Given the description of an element on the screen output the (x, y) to click on. 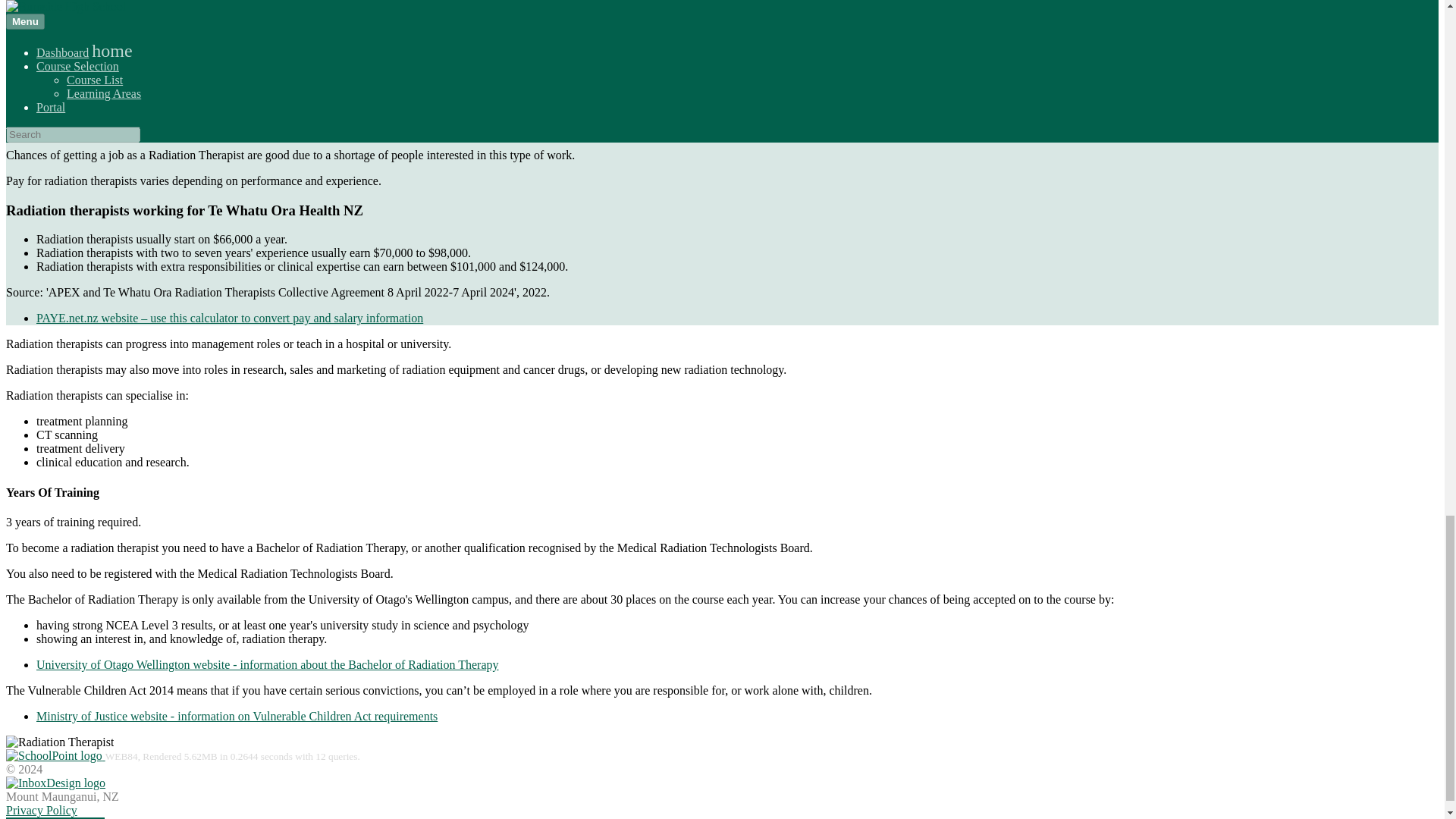
star (18, 103)
Privacy Policy (41, 809)
star (18, 12)
